Given the description of an element on the screen output the (x, y) to click on. 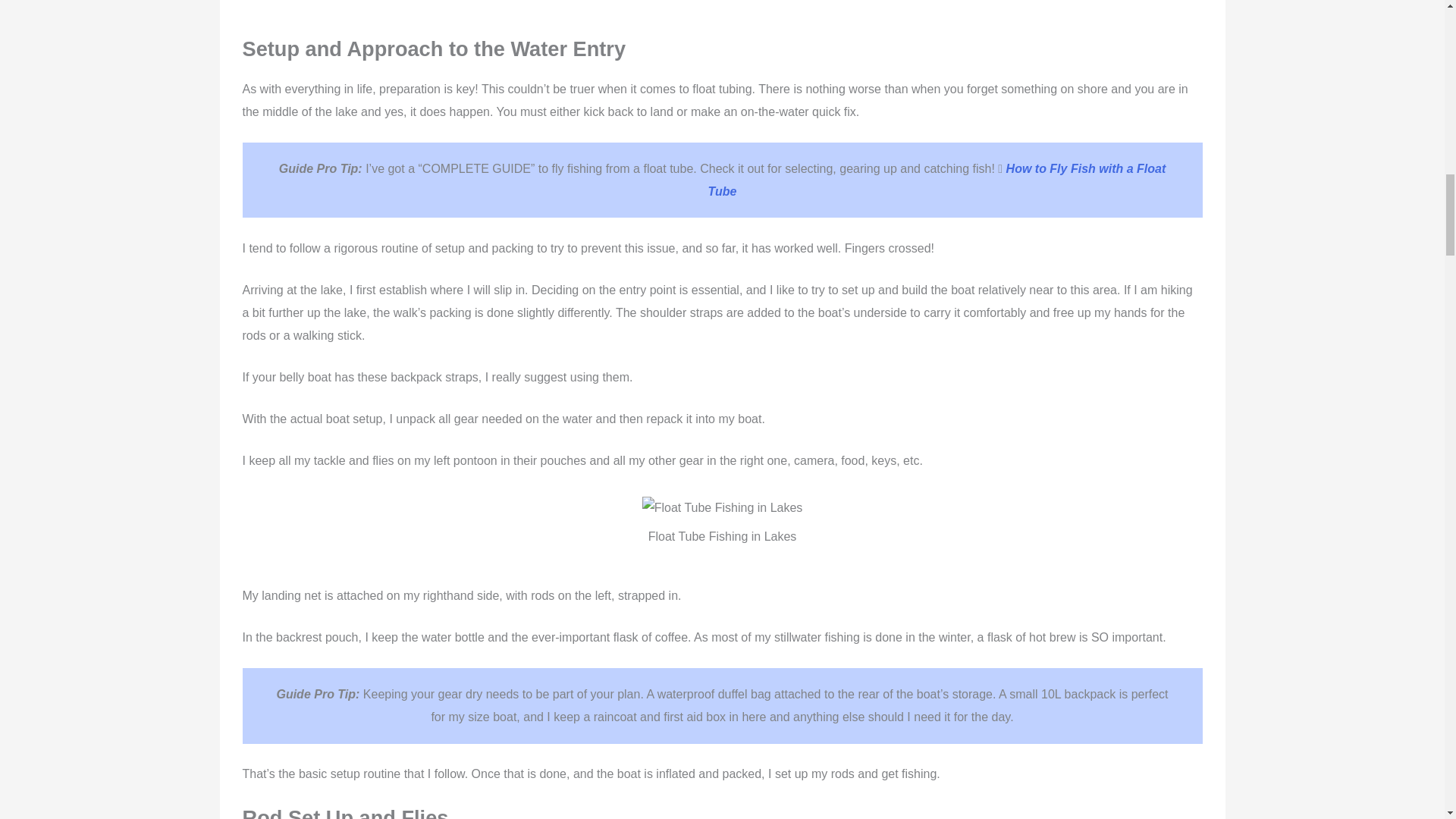
How to Fly Fish with a Float Tube (936, 180)
